Given the description of an element on the screen output the (x, y) to click on. 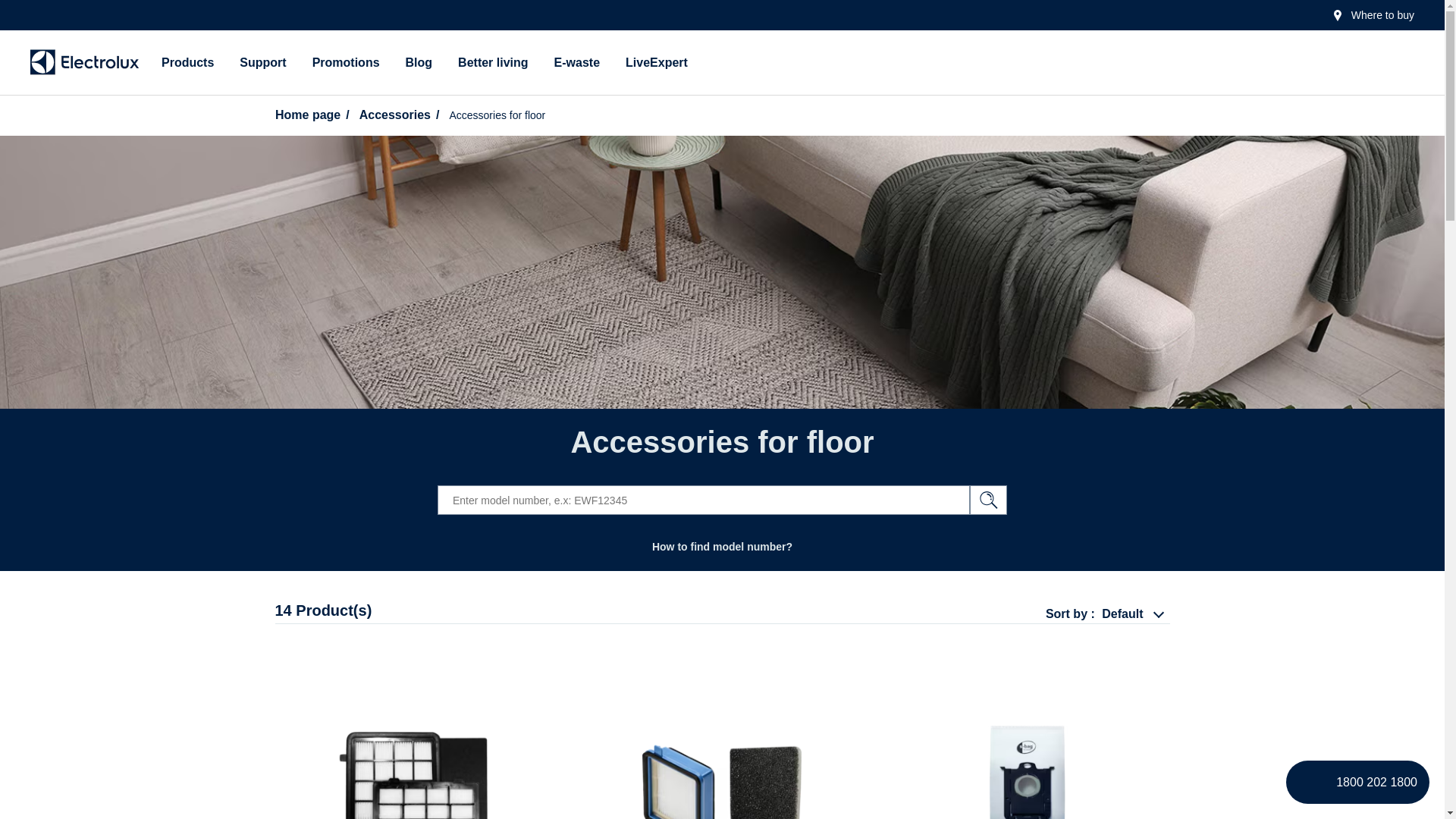
1800 202 1800 (1357, 781)
Products (187, 61)
Where to buy (1372, 15)
